Given the description of an element on the screen output the (x, y) to click on. 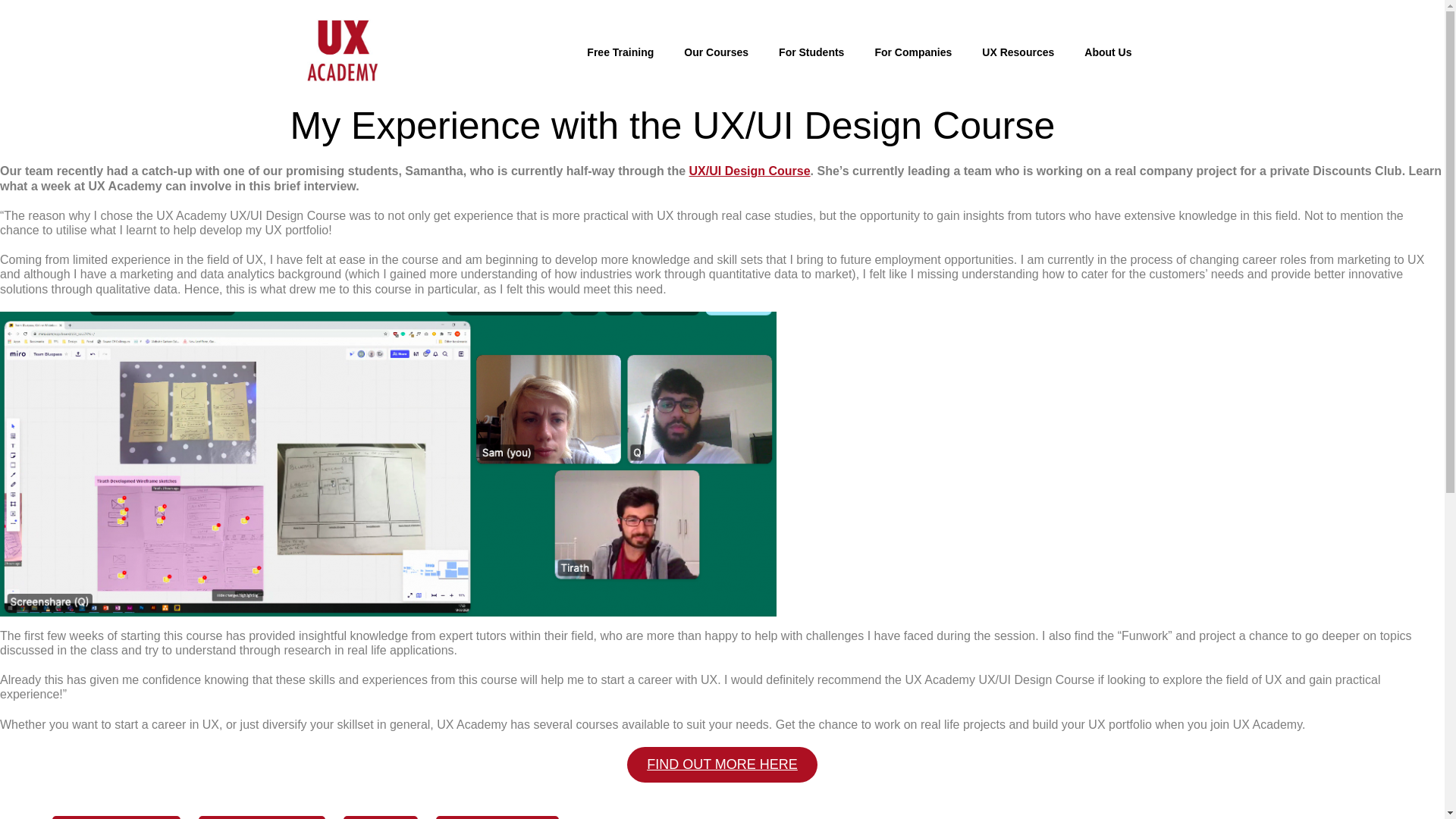
Free Training (620, 52)
About Us (1107, 52)
For Companies (912, 52)
For Students (810, 52)
Our Courses (715, 52)
UX Resources (1017, 52)
